Given the description of an element on the screen output the (x, y) to click on. 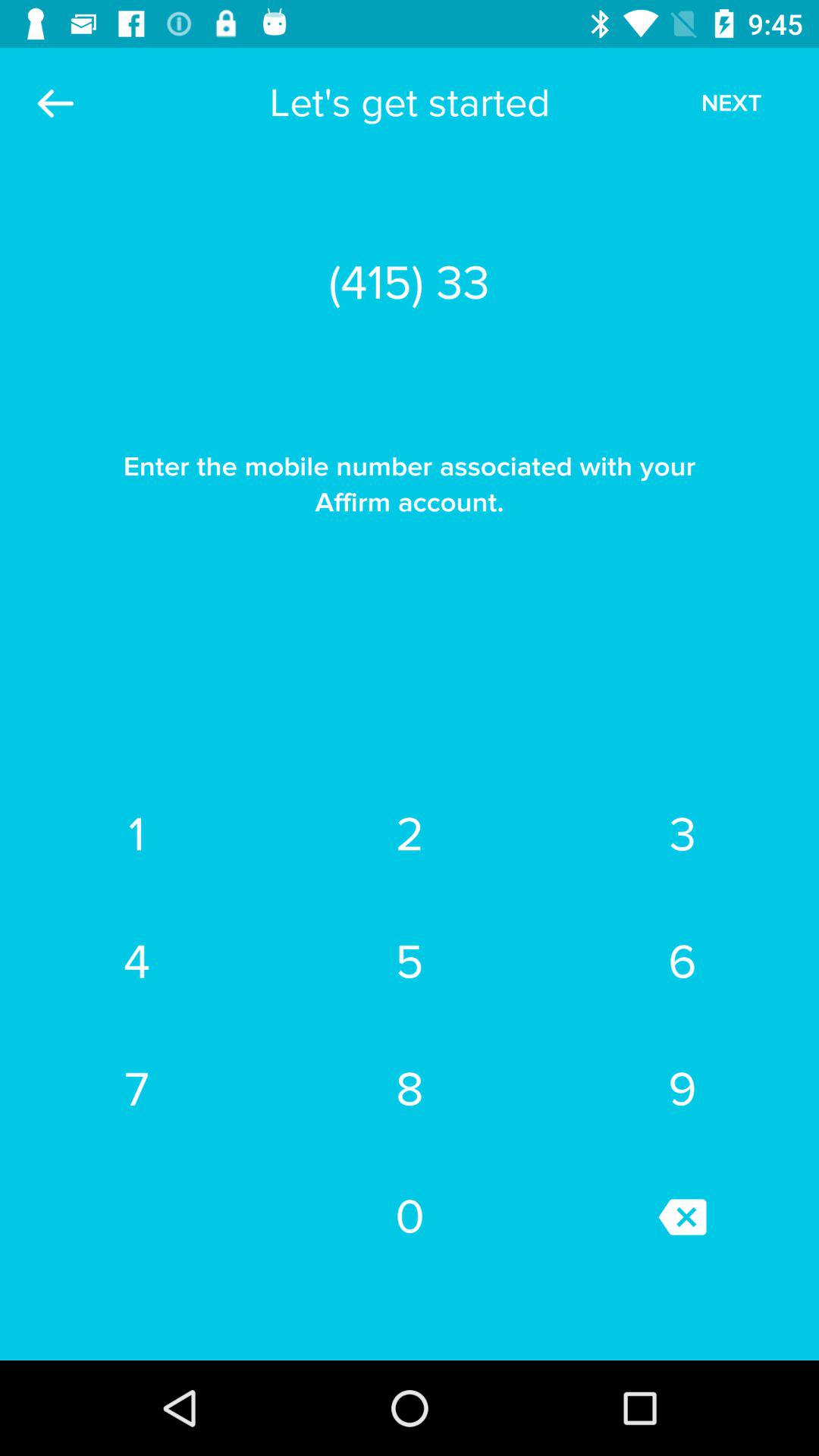
select the item above 7 (409, 962)
